Given the description of an element on the screen output the (x, y) to click on. 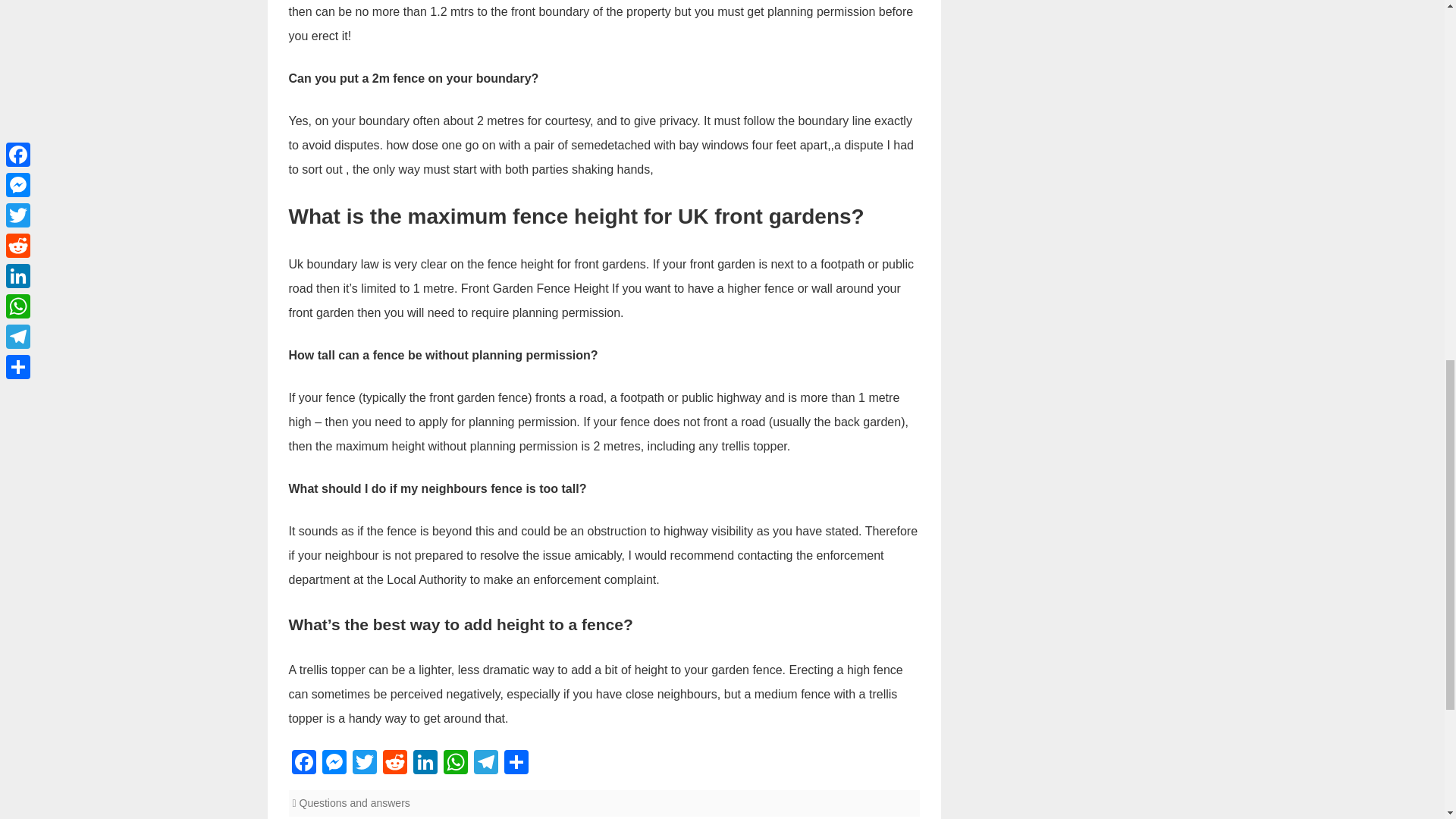
Questions and answers (354, 802)
Facebook (303, 764)
Telegram (485, 764)
Twitter (363, 764)
LinkedIn (424, 764)
Facebook (303, 764)
WhatsApp (454, 764)
LinkedIn (424, 764)
Messenger (333, 764)
WhatsApp (454, 764)
